Given the description of an element on the screen output the (x, y) to click on. 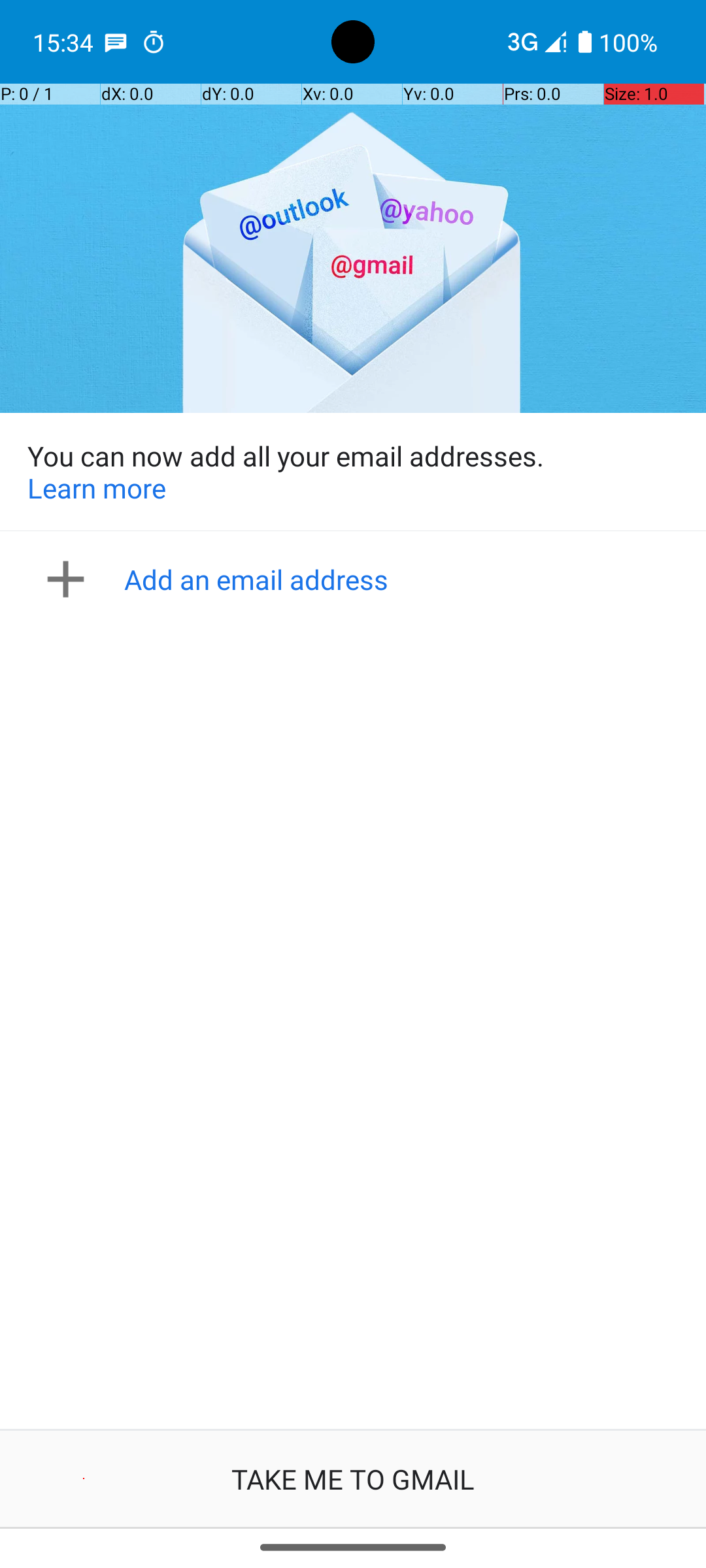
You can now add all your email addresses. Learn more Element type: android.widget.TextView (352, 471)
TAKE ME TO GMAIL Element type: android.widget.TextView (353, 1478)
Add an email address Element type: android.widget.TextView (356, 579)
